Given the description of an element on the screen output the (x, y) to click on. 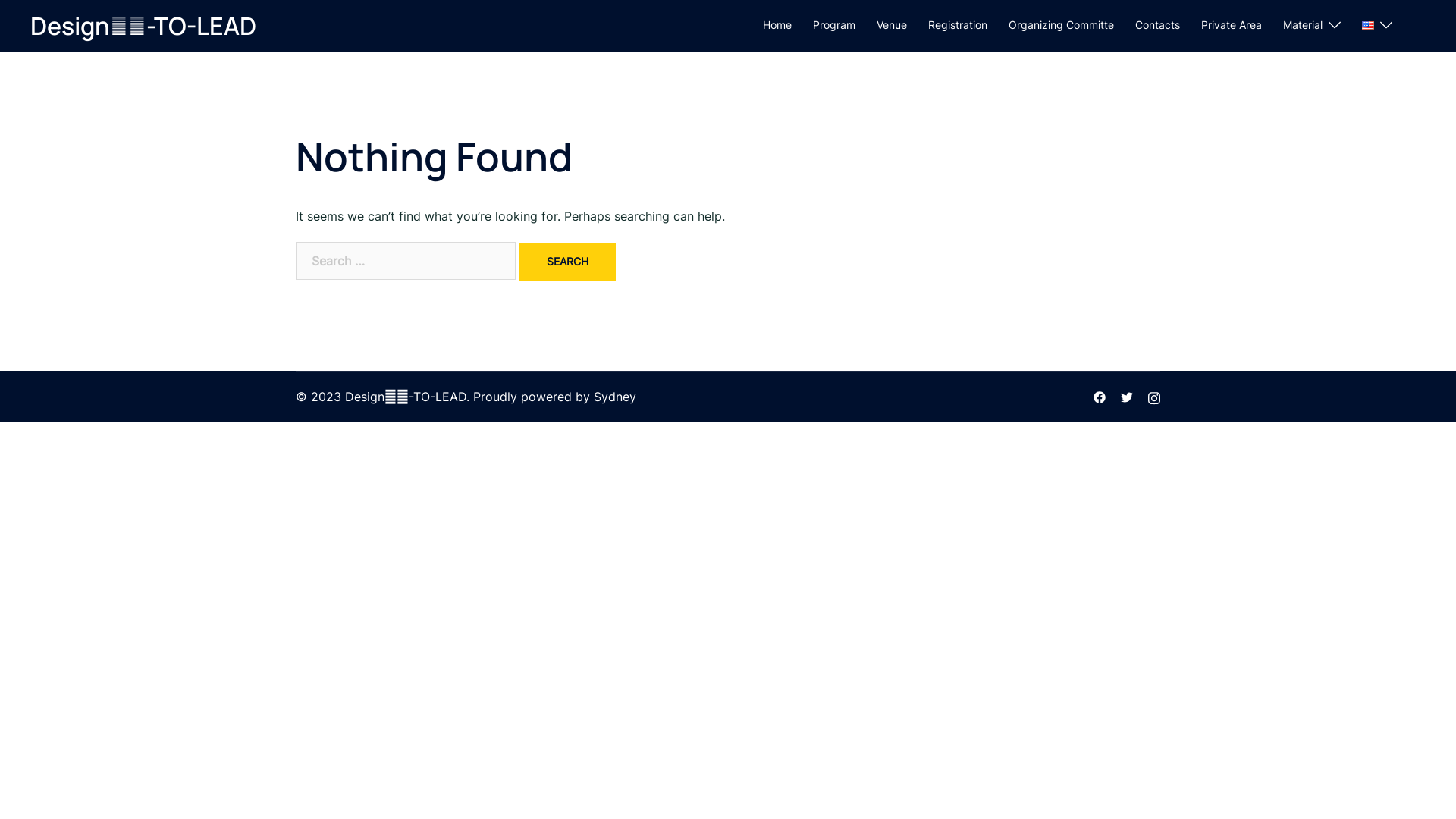
Private Area Element type: text (1231, 24)
Registration Element type: text (957, 24)
Sydney Element type: text (614, 396)
Organizing Committe Element type: text (1060, 24)
Home Element type: text (776, 24)
Material Element type: text (1302, 24)
Program Element type: text (833, 24)
Venue Element type: text (891, 24)
Search Element type: text (567, 261)
Contacts Element type: text (1157, 24)
